Given the description of an element on the screen output the (x, y) to click on. 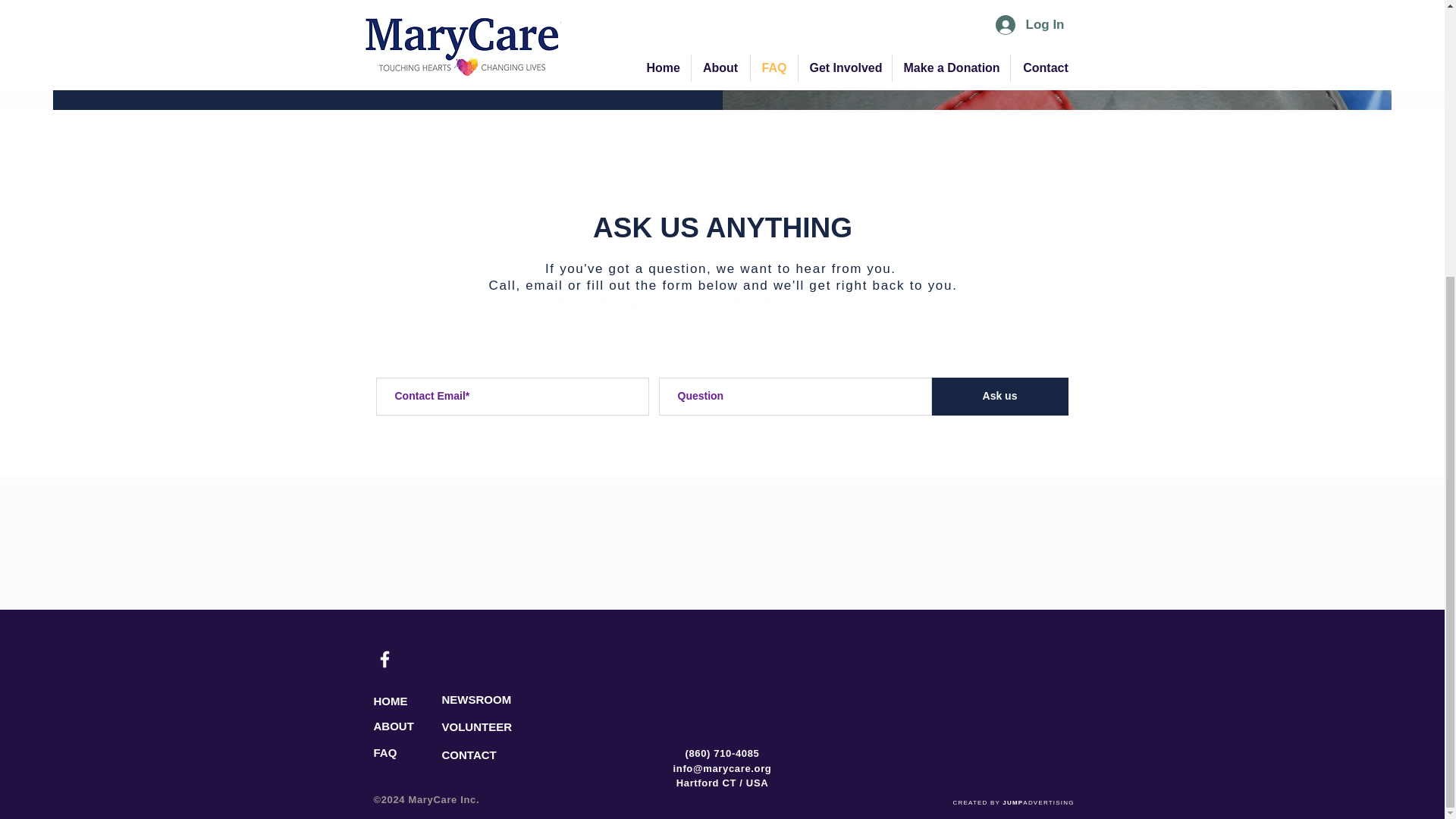
CREATED BY JUMPADVERTISING (1013, 802)
FAQ (426, 752)
ABOUT (426, 725)
VOLUNTEER (494, 726)
Ask us (999, 396)
CONTACT (494, 754)
HOME (426, 700)
NEWSROOM (494, 699)
